Given the description of an element on the screen output the (x, y) to click on. 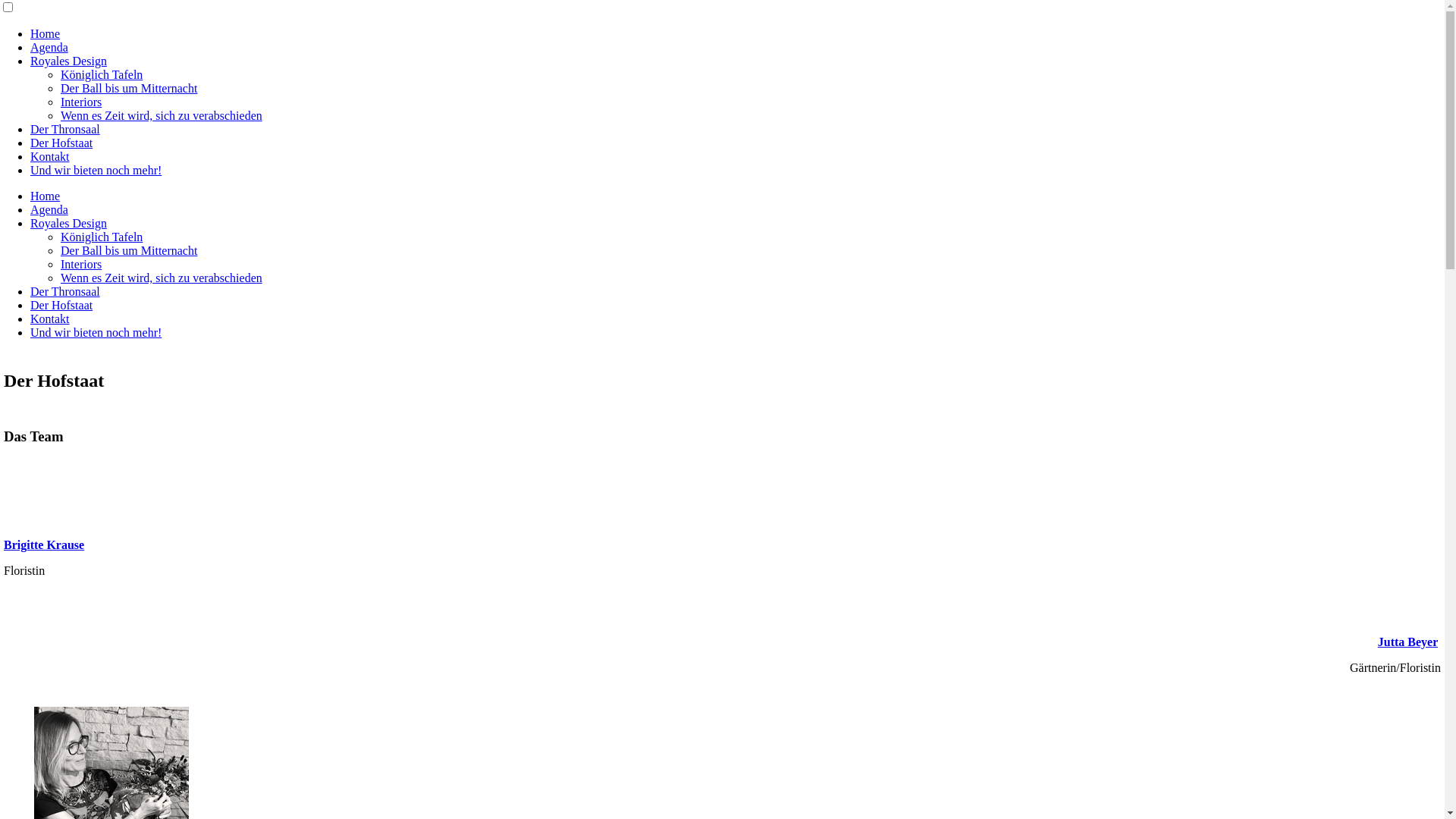
Royales Design Element type: text (68, 60)
Interiors Element type: text (80, 263)
Royales Design Element type: text (68, 222)
Agenda Element type: text (49, 46)
Kontakt Element type: text (49, 156)
Und wir bieten noch mehr! Element type: text (95, 332)
Der Hofstaat Element type: text (61, 142)
Der Thronsaal Element type: text (65, 128)
Der Ball bis um Mitternacht Element type: text (128, 250)
Home Element type: text (44, 195)
Wenn es Zeit wird, sich zu verabschieden Element type: text (161, 115)
Wenn es Zeit wird, sich zu verabschieden Element type: text (161, 277)
Brigitte Krause Element type: text (43, 544)
Jutta Beyer Element type: text (1407, 641)
Kontakt Element type: text (49, 318)
Der Ball bis um Mitternacht Element type: text (128, 87)
Und wir bieten noch mehr! Element type: text (95, 169)
Interiors Element type: text (80, 101)
Home Element type: text (44, 33)
Der Hofstaat Element type: text (61, 304)
Der Thronsaal Element type: text (65, 291)
Agenda Element type: text (49, 209)
